Given the description of an element on the screen output the (x, y) to click on. 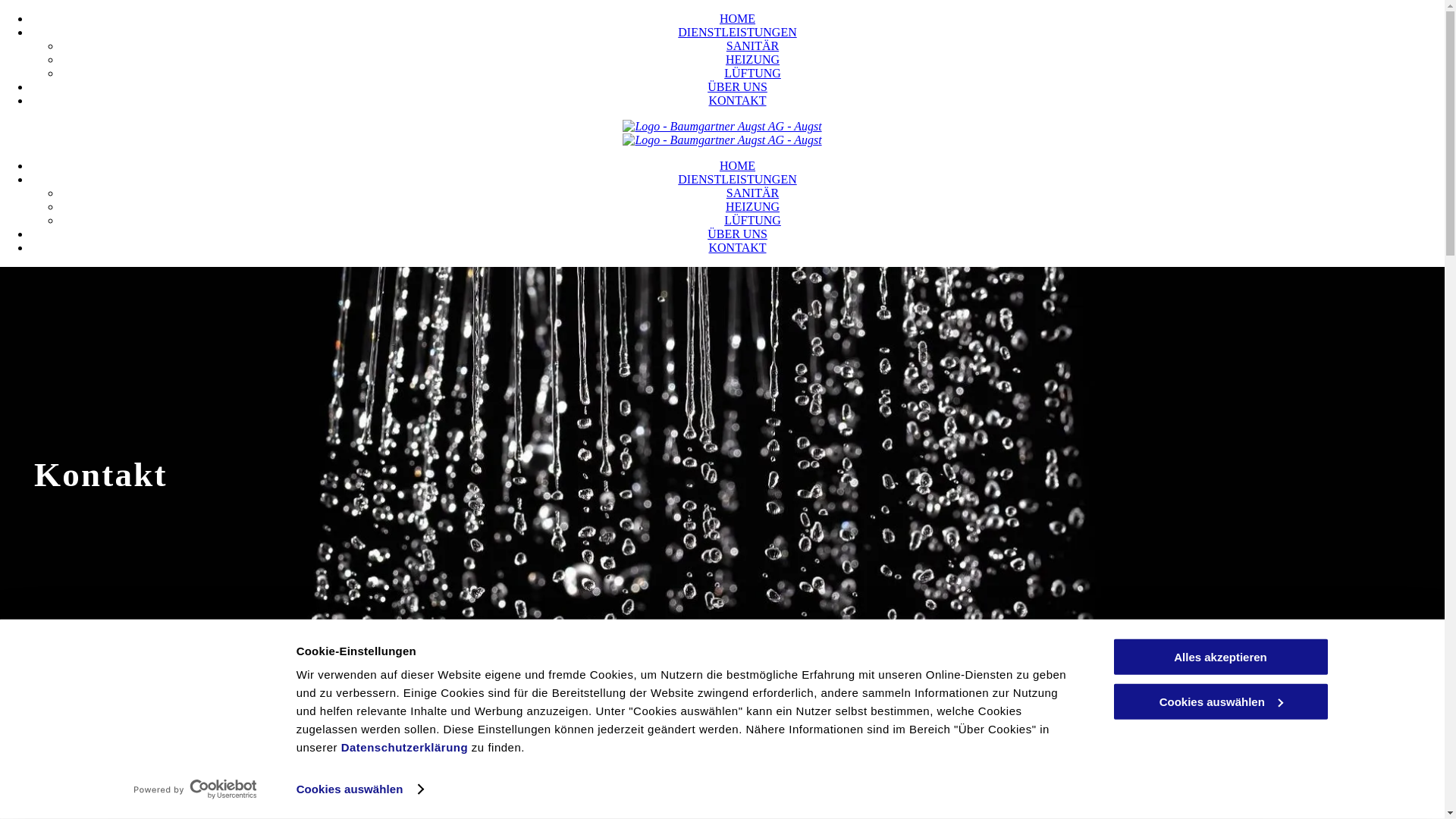
DIENSTLEISTUNGEN Element type: text (736, 178)
HEIZUNG Element type: text (752, 206)
Alles akzeptieren Element type: text (1219, 656)
KONTAKT Element type: text (736, 100)
HOME Element type: text (737, 165)
DIENSTLEISTUNGEN Element type: text (736, 31)
KONTAKT Element type: text (736, 247)
HEIZUNG Element type: text (752, 59)
061 813 17 17 Element type: text (112, 783)
info@baumgartner-augst.ch Element type: text (164, 806)
HOME Element type: text (737, 18)
